Given the description of an element on the screen output the (x, y) to click on. 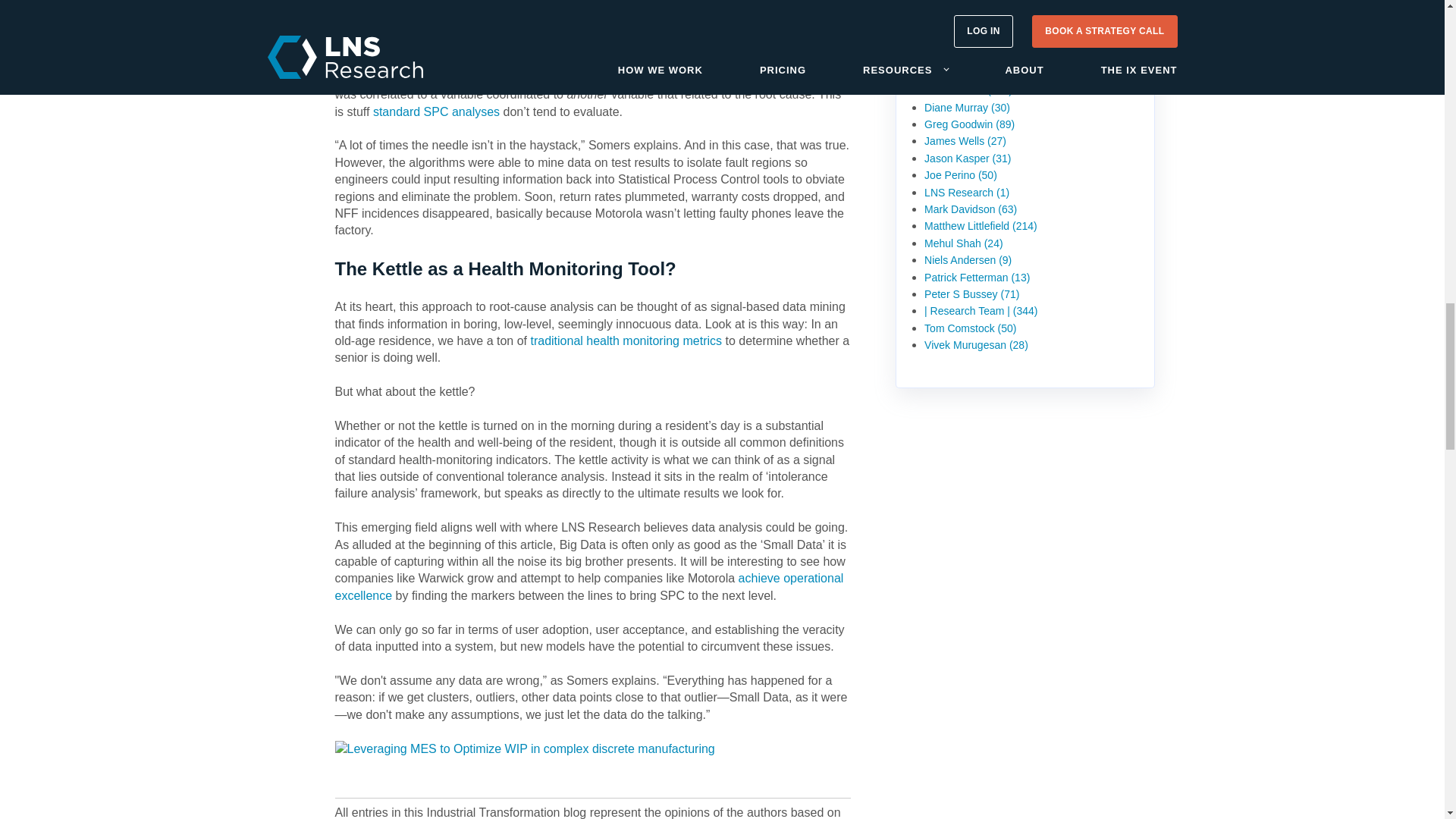
achieve operational excellence (589, 586)
traditional health monitoring metrics (625, 340)
traditional health monitoring metrics (625, 340)
standard SPC analyses (435, 111)
standard SPC analyses (435, 111)
achieve operational excellence (589, 586)
